Given the description of an element on the screen output the (x, y) to click on. 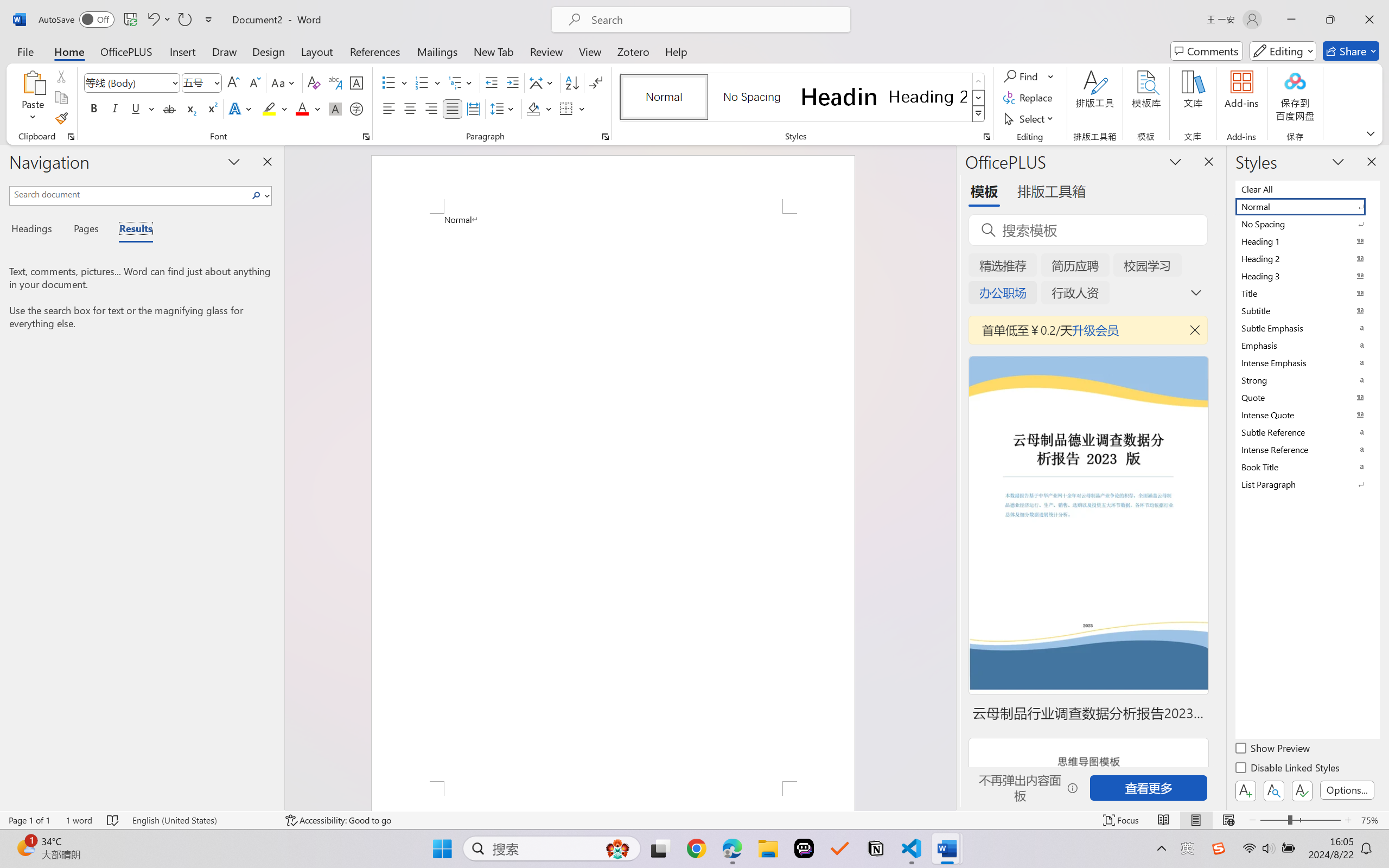
AutomationID: BadgeAnchorLargeTicker (24, 847)
Format Painter (60, 118)
Text Highlight Color Yellow (269, 108)
Phonetic Guide... (334, 82)
Search document (128, 193)
Character Shading (334, 108)
Ribbon Display Options (1370, 132)
Multilevel List (461, 82)
Class: Image (1218, 847)
Microsoft search (715, 19)
Intense Quote (1306, 414)
Minimize (1291, 19)
Zoom (1300, 819)
Text Highlight Color (274, 108)
